Given the description of an element on the screen output the (x, y) to click on. 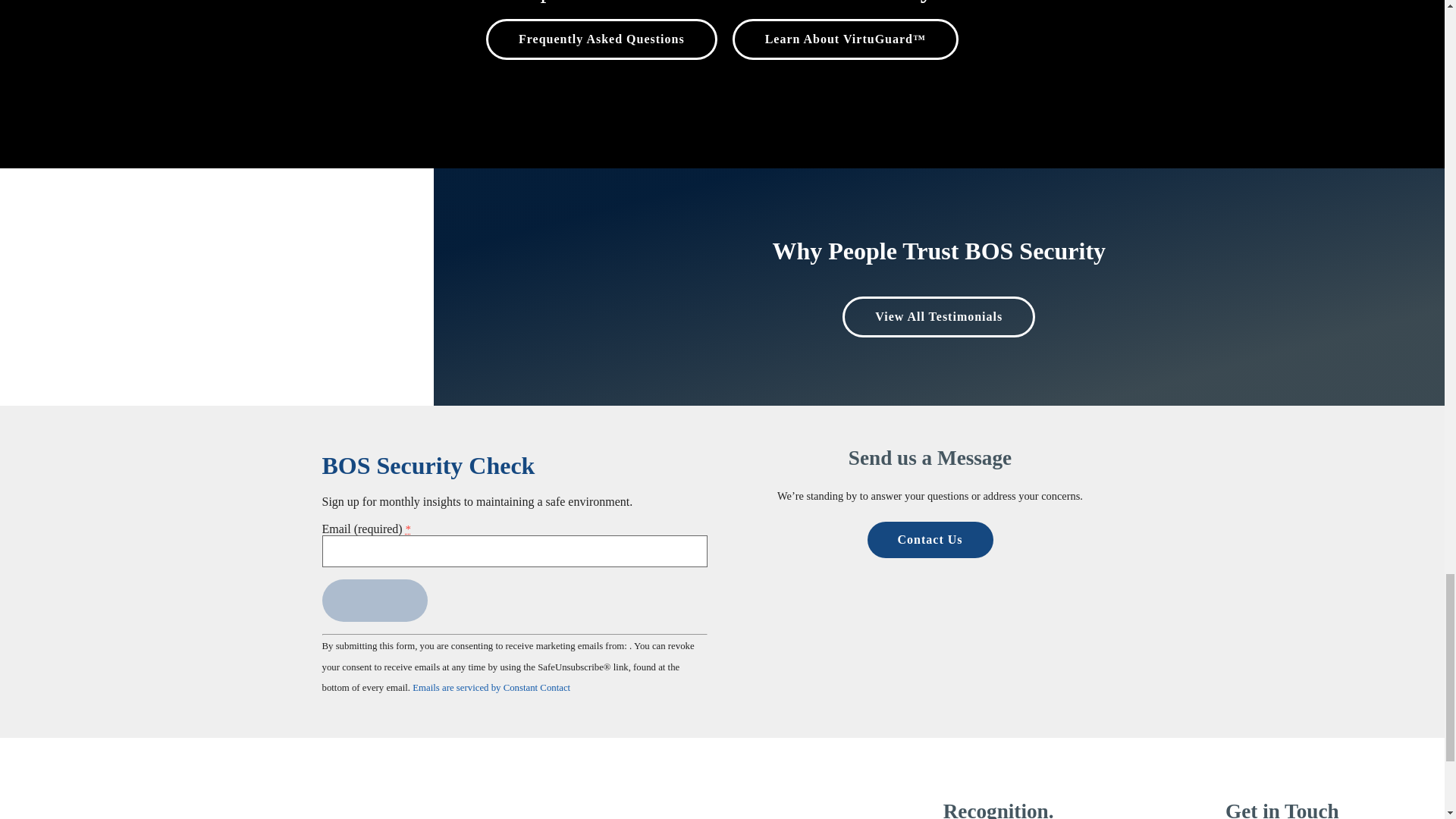
Sign up (373, 600)
